Given the description of an element on the screen output the (x, y) to click on. 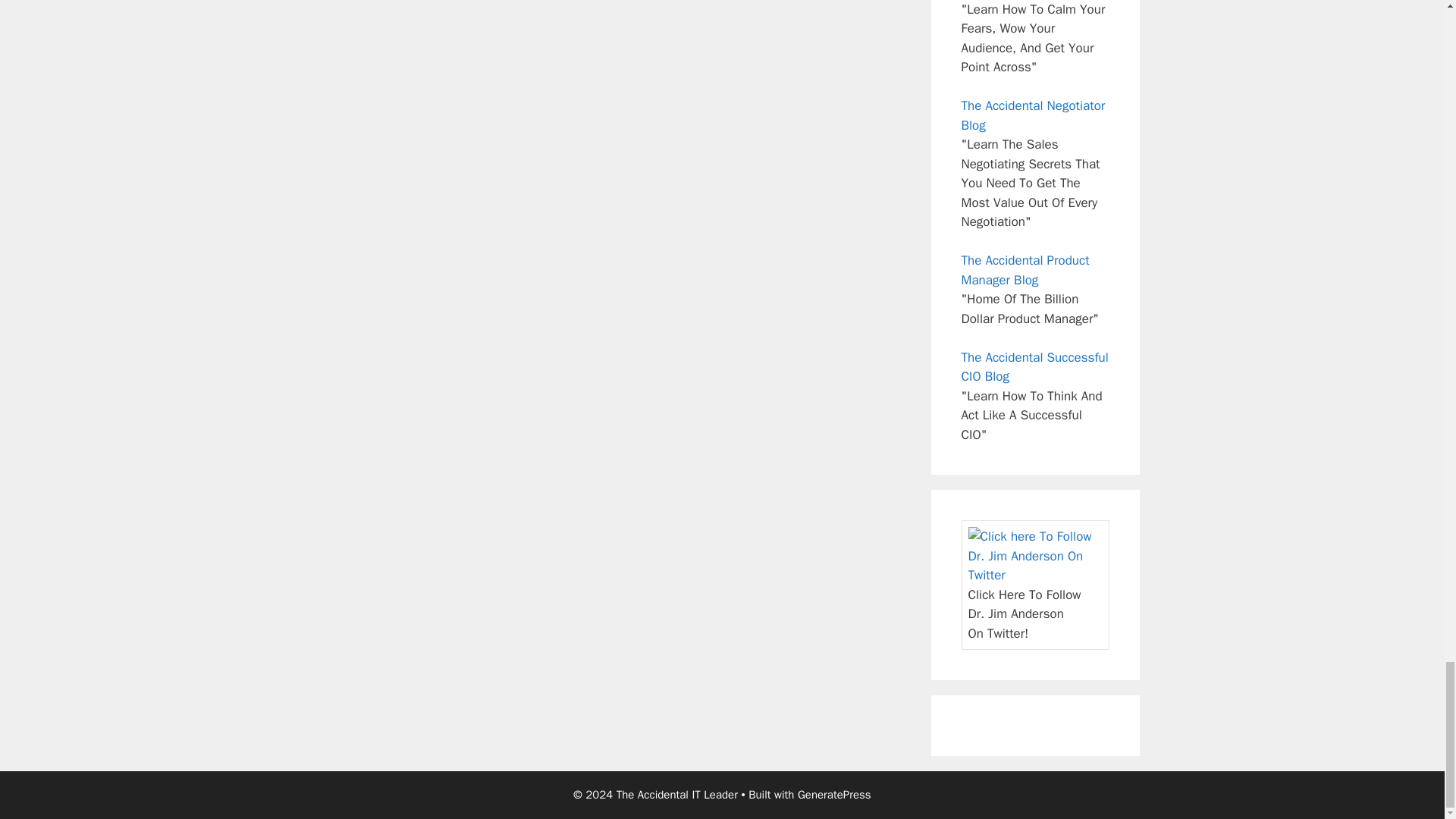
The Accidental Negotiator Blog (1032, 115)
The Accidental Product Manager Blog (1024, 270)
